Given the description of an element on the screen output the (x, y) to click on. 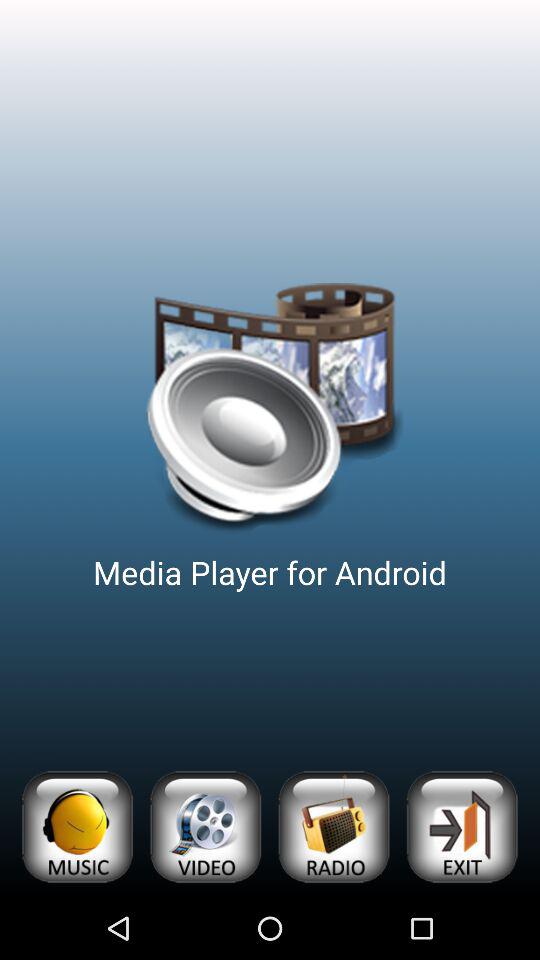
open music list (76, 826)
